Given the description of an element on the screen output the (x, y) to click on. 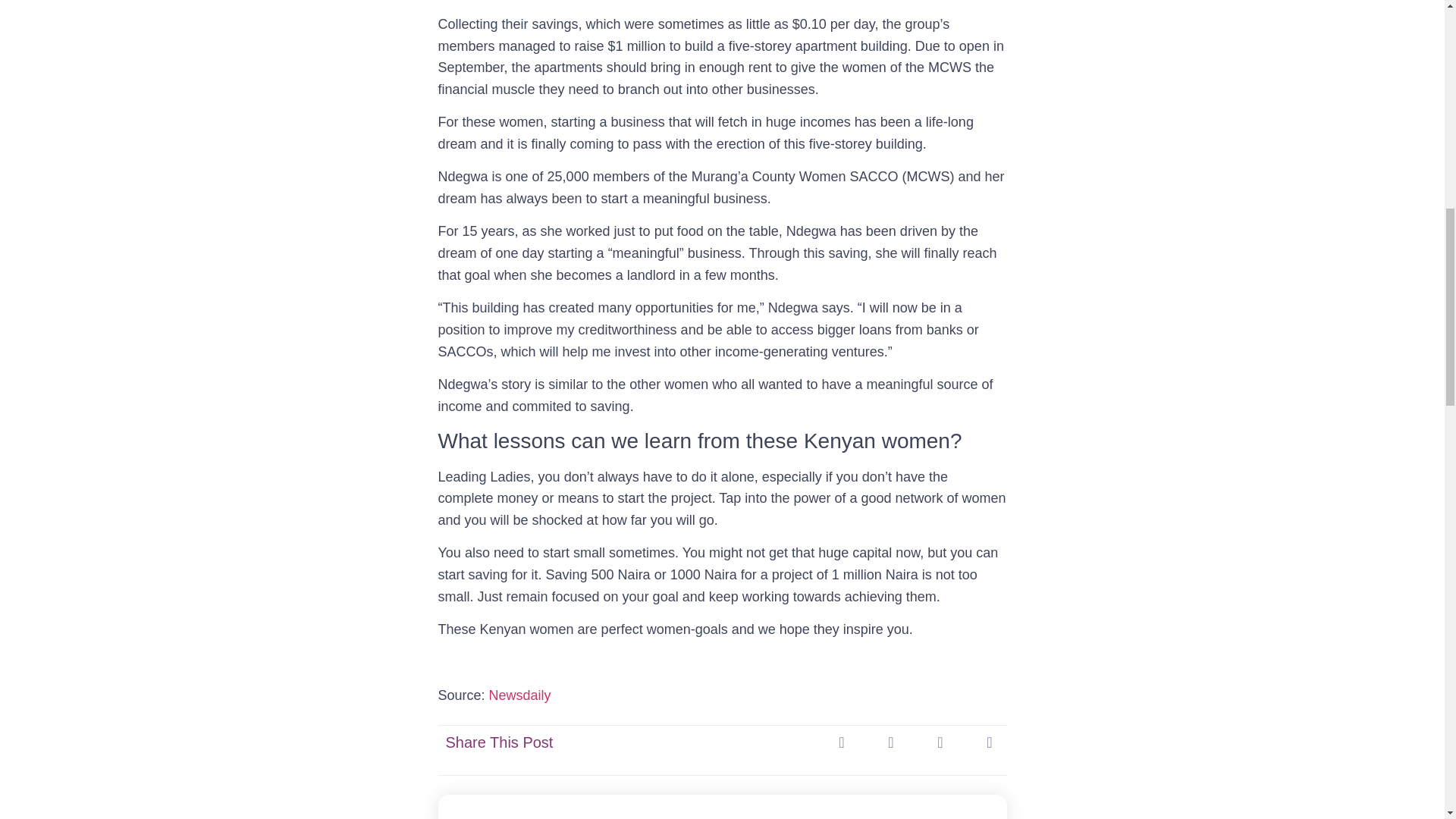
Newsdaily (520, 694)
